Given the description of an element on the screen output the (x, y) to click on. 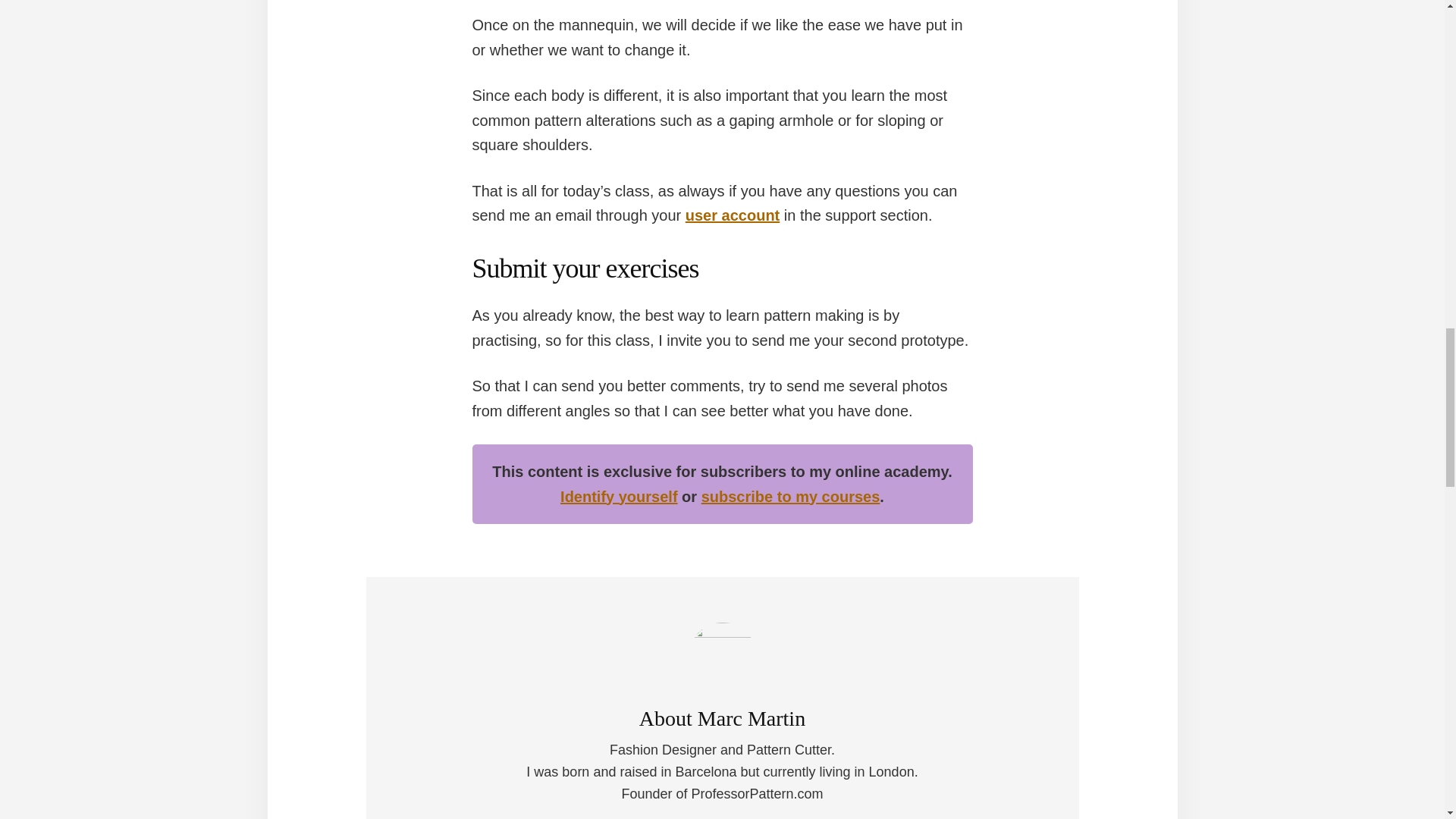
Identify yourself (618, 496)
subscribe to my courses (790, 496)
user account (731, 215)
